Given the description of an element on the screen output the (x, y) to click on. 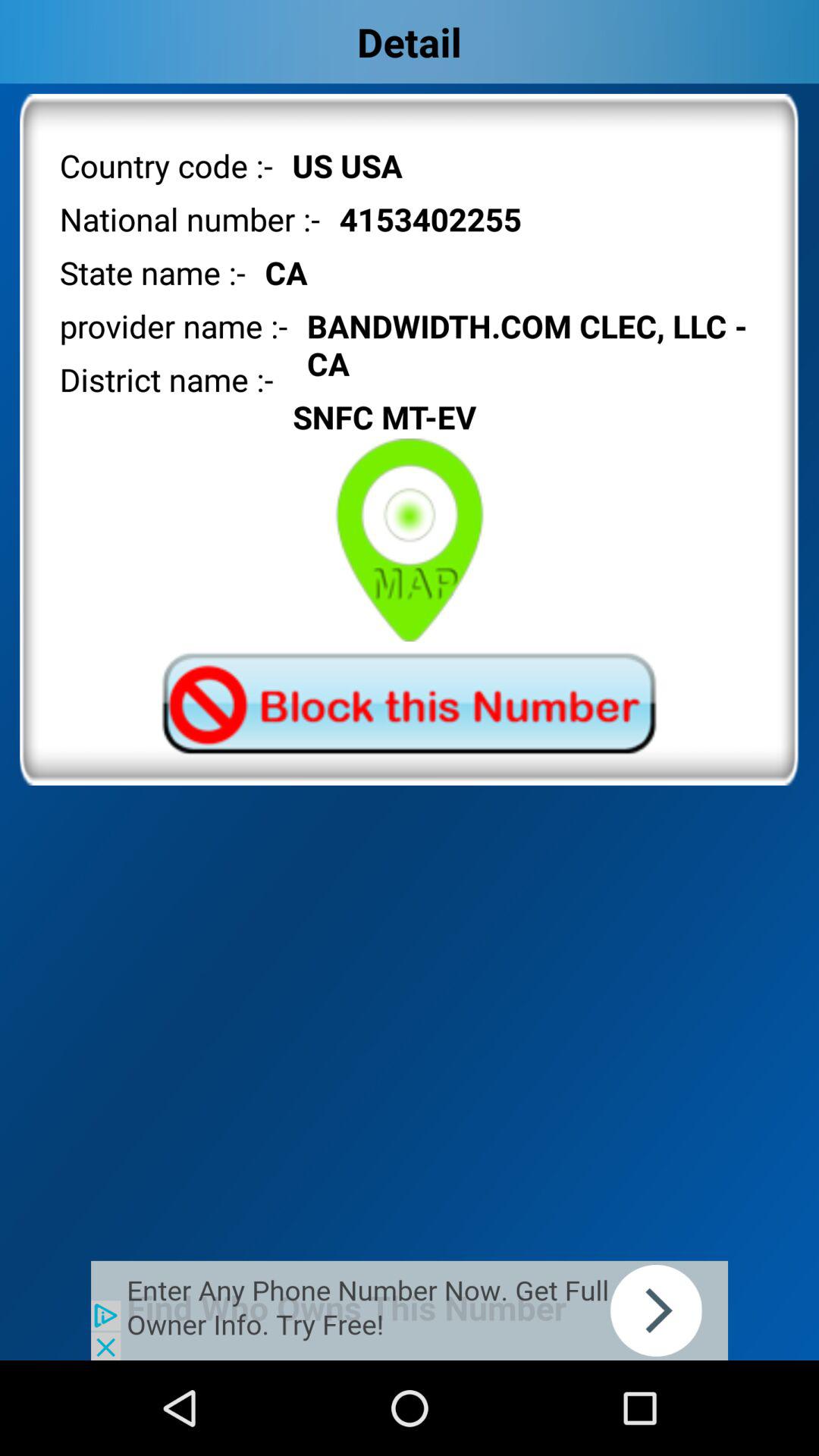
block phone number (409, 703)
